Given the description of an element on the screen output the (x, y) to click on. 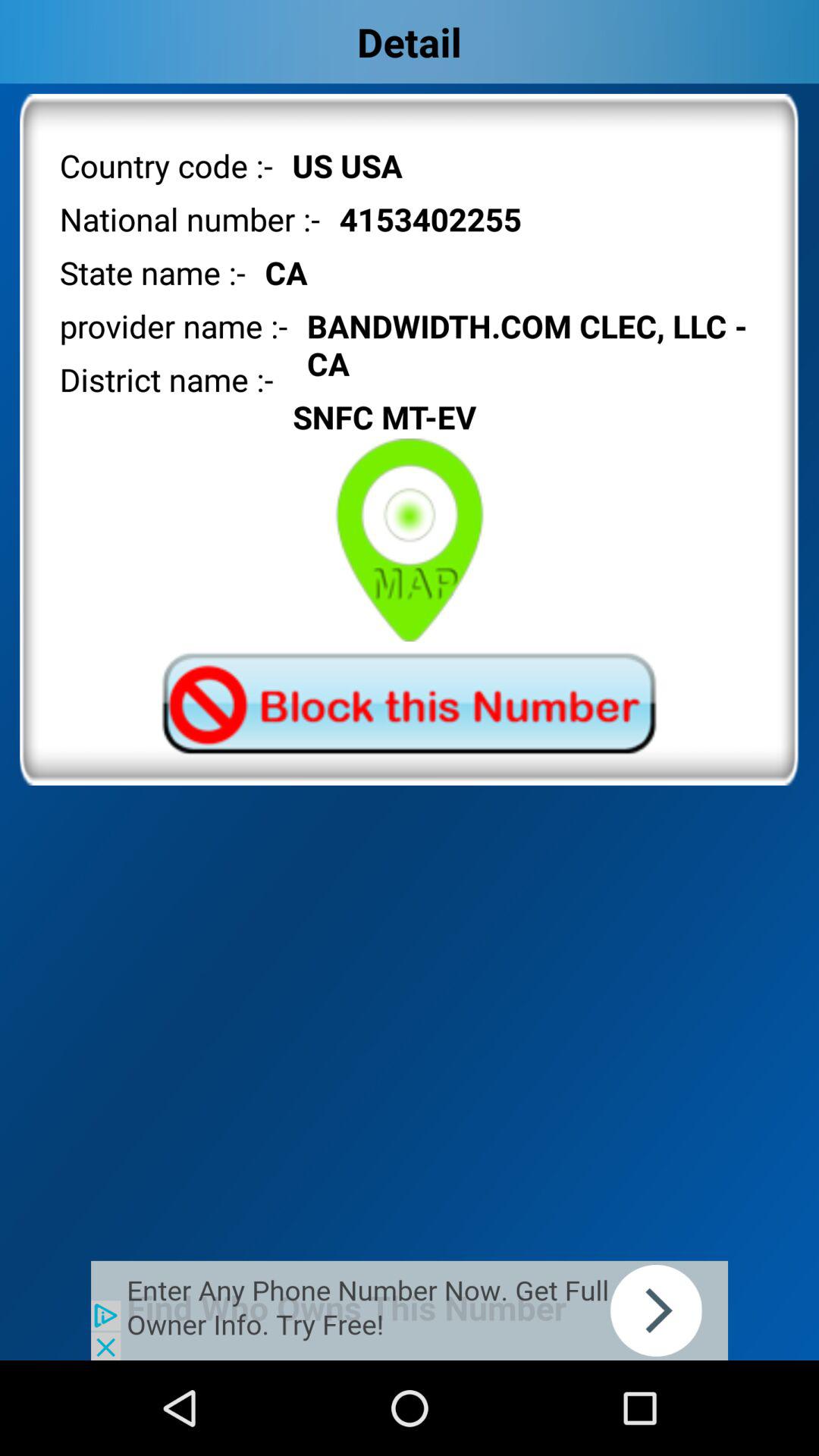
block phone number (409, 703)
